Given the description of an element on the screen output the (x, y) to click on. 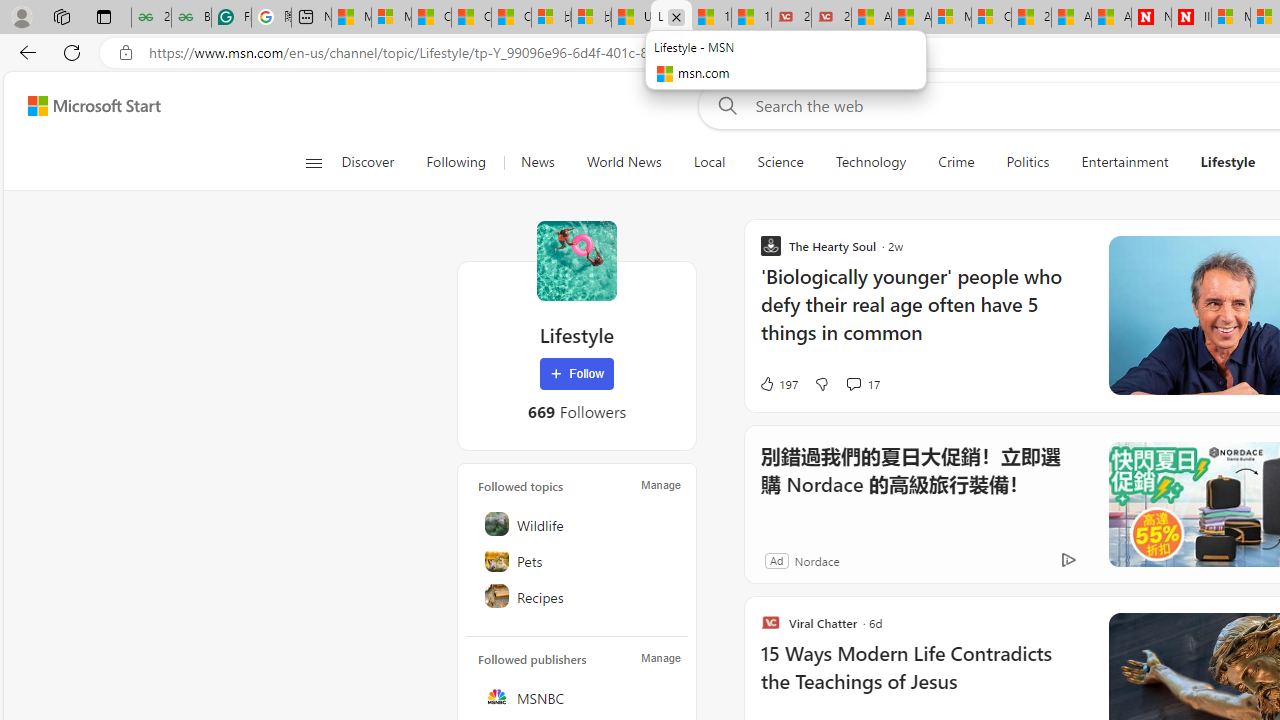
Crime (956, 162)
Politics (1027, 162)
Manage (660, 657)
World News (623, 162)
Cloud Computing Services | Microsoft Azure (991, 17)
News (537, 162)
Recipes (578, 596)
Newsweek - News, Analysis, Politics, Business, Technology (1151, 17)
Refresh (72, 52)
Local (708, 162)
Lifestyle (1227, 162)
Microsoft Start (94, 105)
News (537, 162)
